Given the description of an element on the screen output the (x, y) to click on. 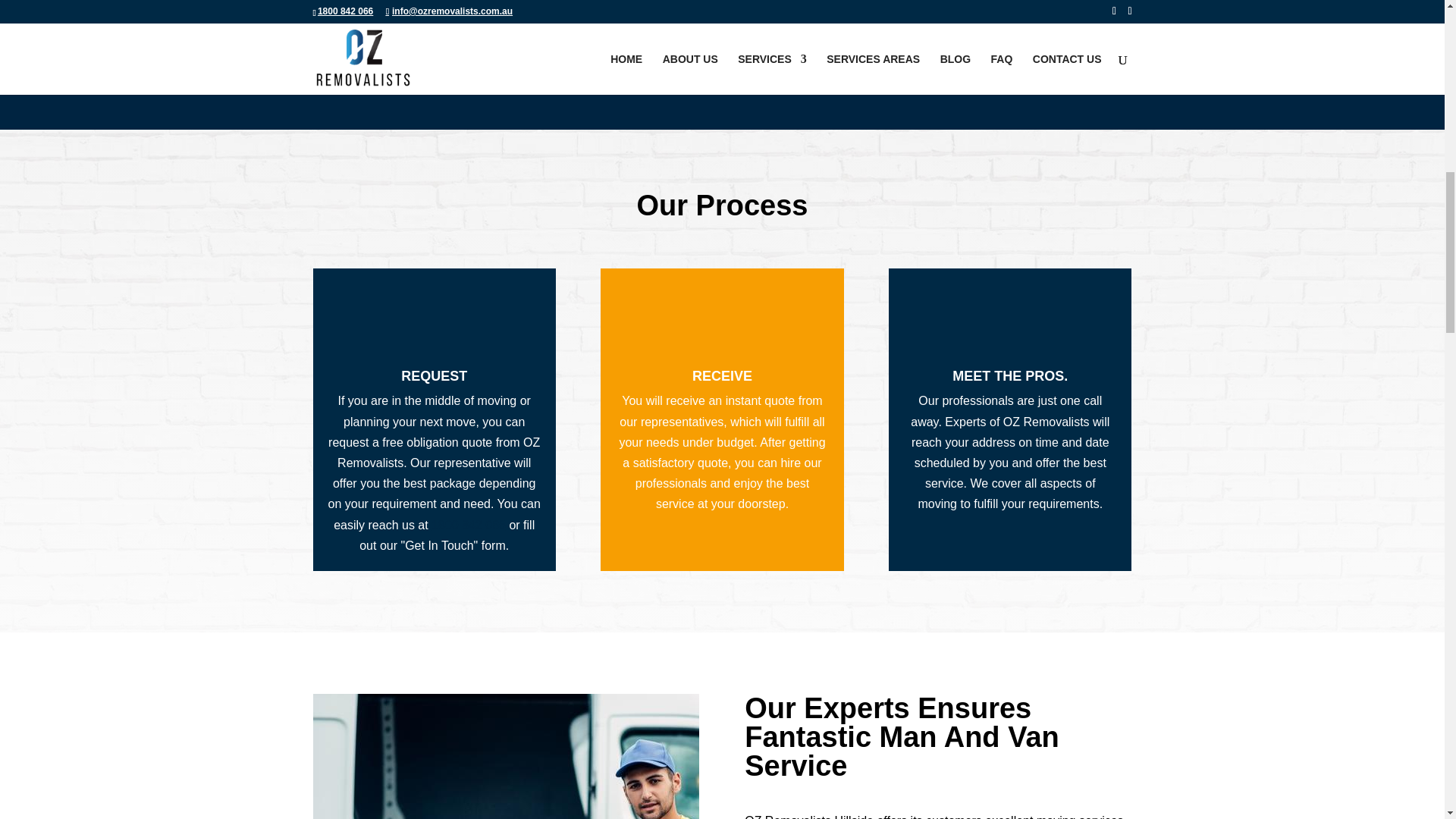
The Most Trusted Movers (505, 756)
